Given the description of an element on the screen output the (x, y) to click on. 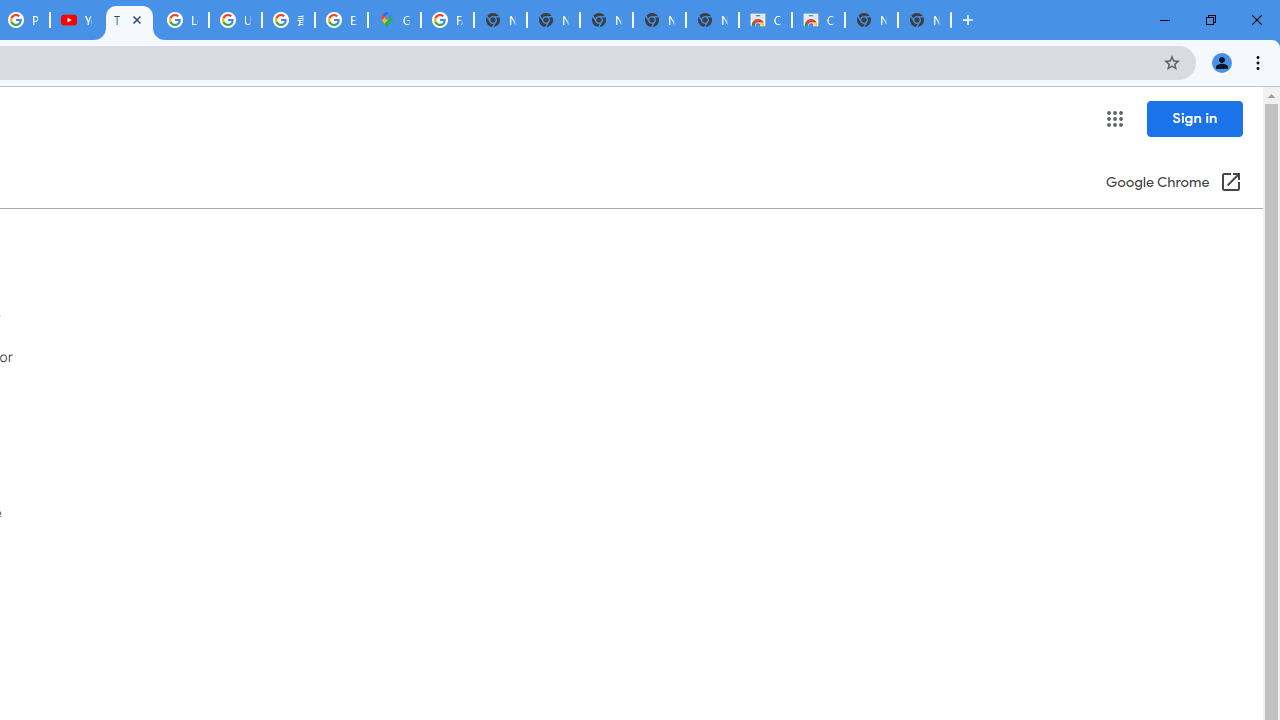
Classic Blue - Chrome Web Store (818, 20)
YouTube (76, 20)
Google Maps (394, 20)
Classic Blue - Chrome Web Store (765, 20)
Google Chrome (Open in a new window) (1173, 183)
